Given the description of an element on the screen output the (x, y) to click on. 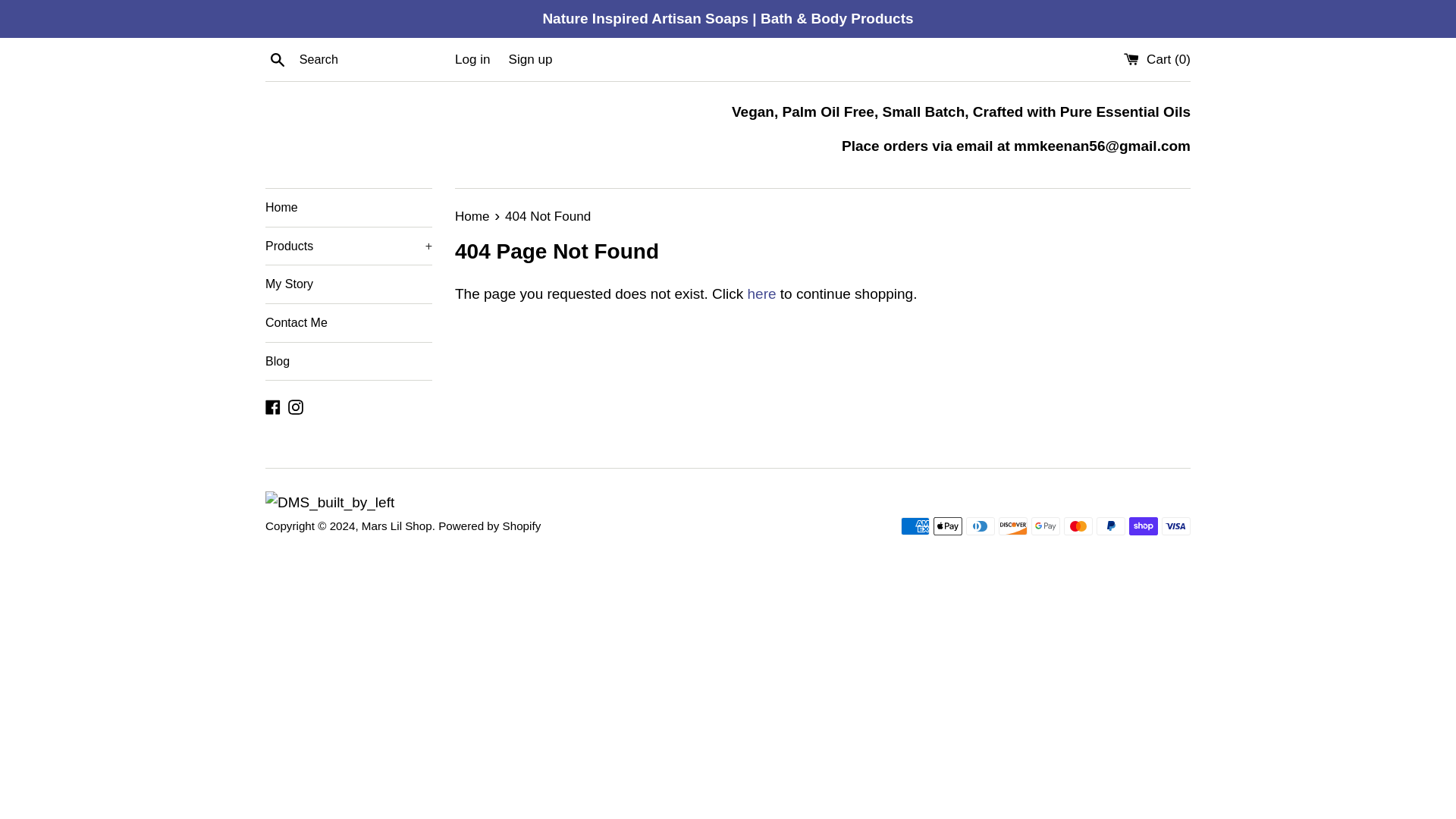
Mars Lil Shop on Instagram (295, 406)
Blog (348, 361)
Contact Me (348, 322)
Home (348, 207)
Powered by Shopify (489, 525)
Sign up (530, 59)
Apple Pay (947, 525)
Log in (472, 59)
American Express (915, 525)
My Story (348, 284)
